Given the description of an element on the screen output the (x, y) to click on. 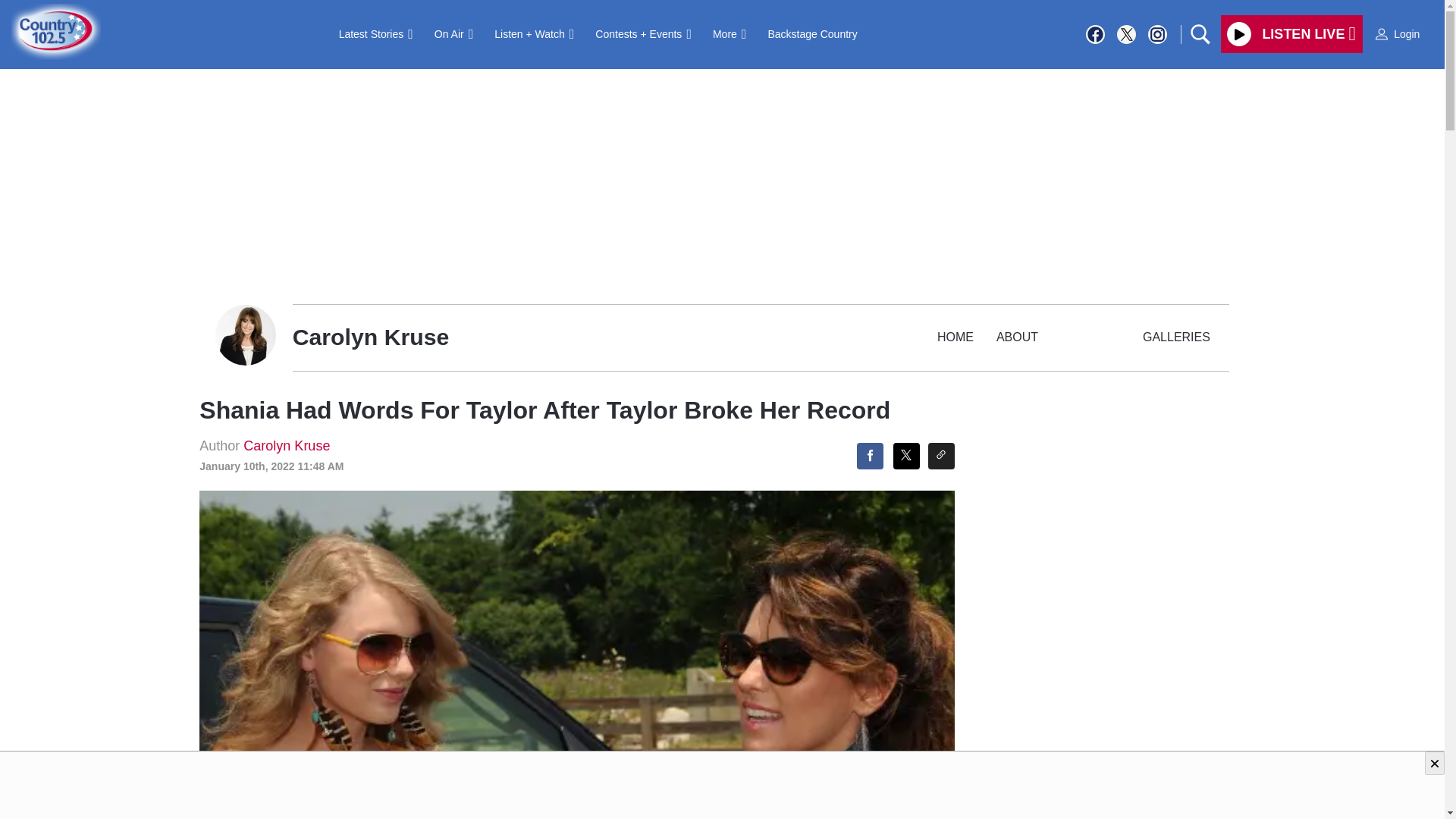
Carolyn Kruse (286, 445)
Close AdCheckmark indicating ad close (1434, 763)
On Air (453, 33)
Latest Stories (376, 33)
More (729, 33)
